Given the description of an element on the screen output the (x, y) to click on. 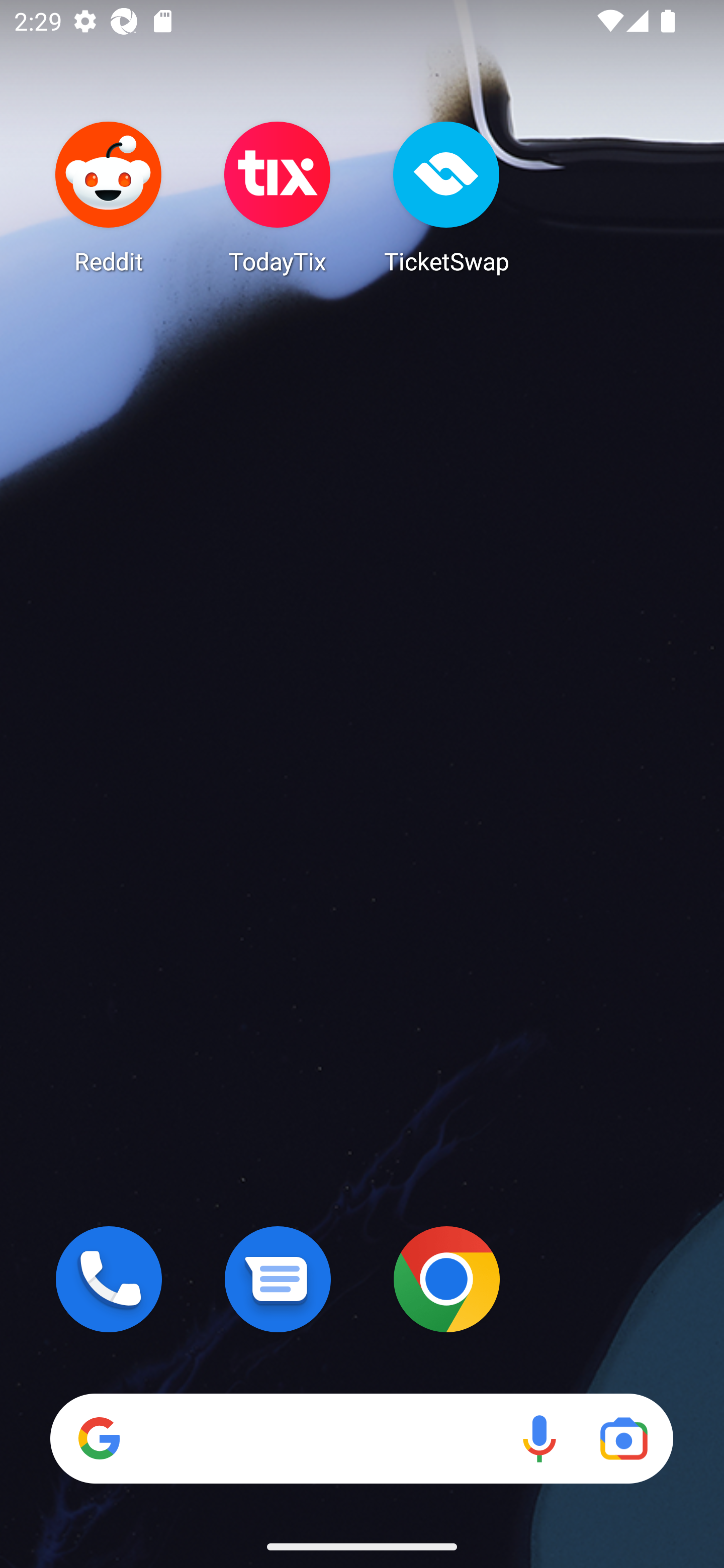
Reddit (108, 196)
TodayTix (277, 196)
TicketSwap (445, 196)
Phone (108, 1279)
Messages (277, 1279)
Chrome (446, 1279)
Voice search (539, 1438)
Google Lens (623, 1438)
